Given the description of an element on the screen output the (x, y) to click on. 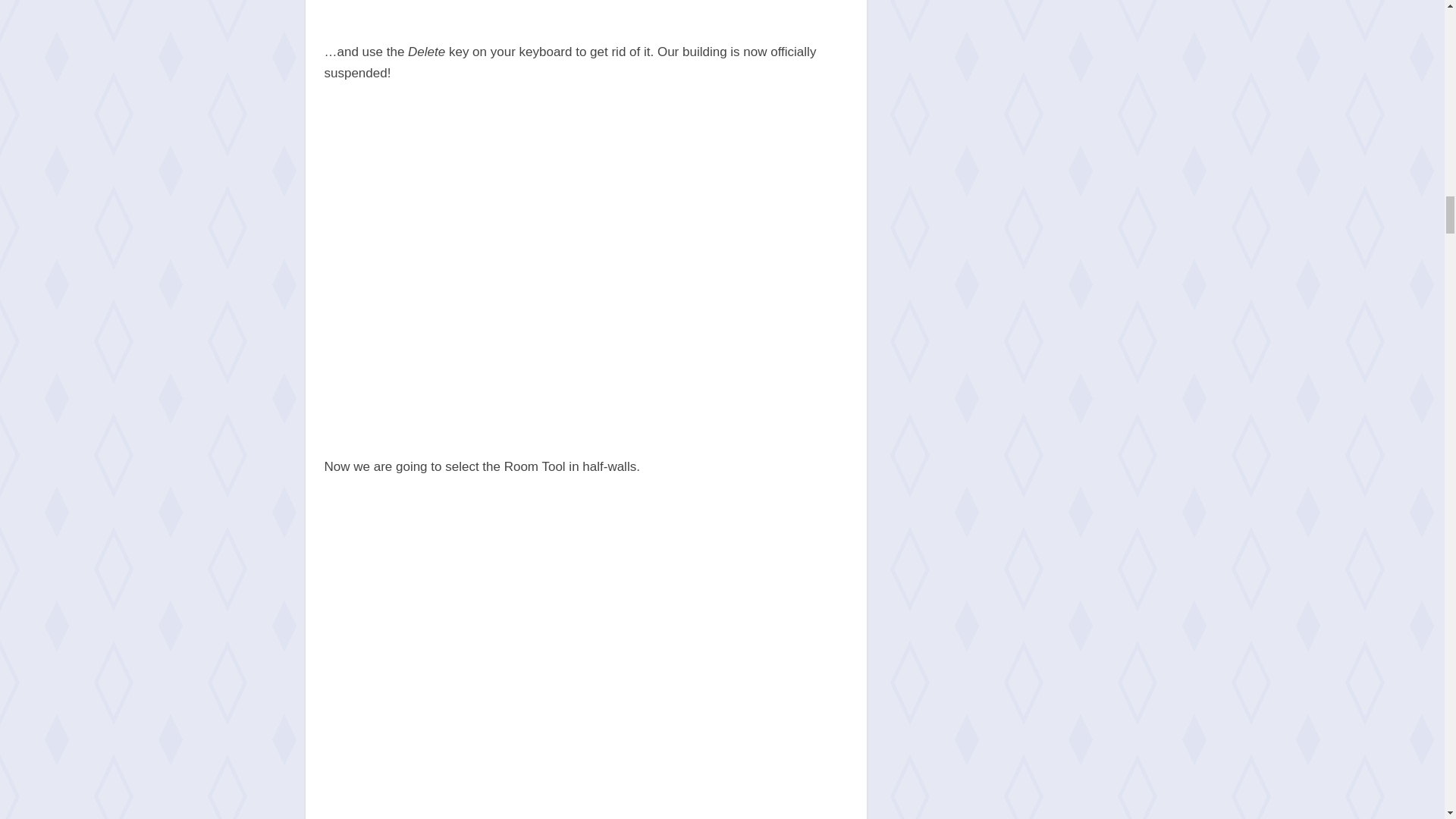
The Sims 4 Building: Creating Suspended Buildings 9 (585, 9)
